Given the description of an element on the screen output the (x, y) to click on. 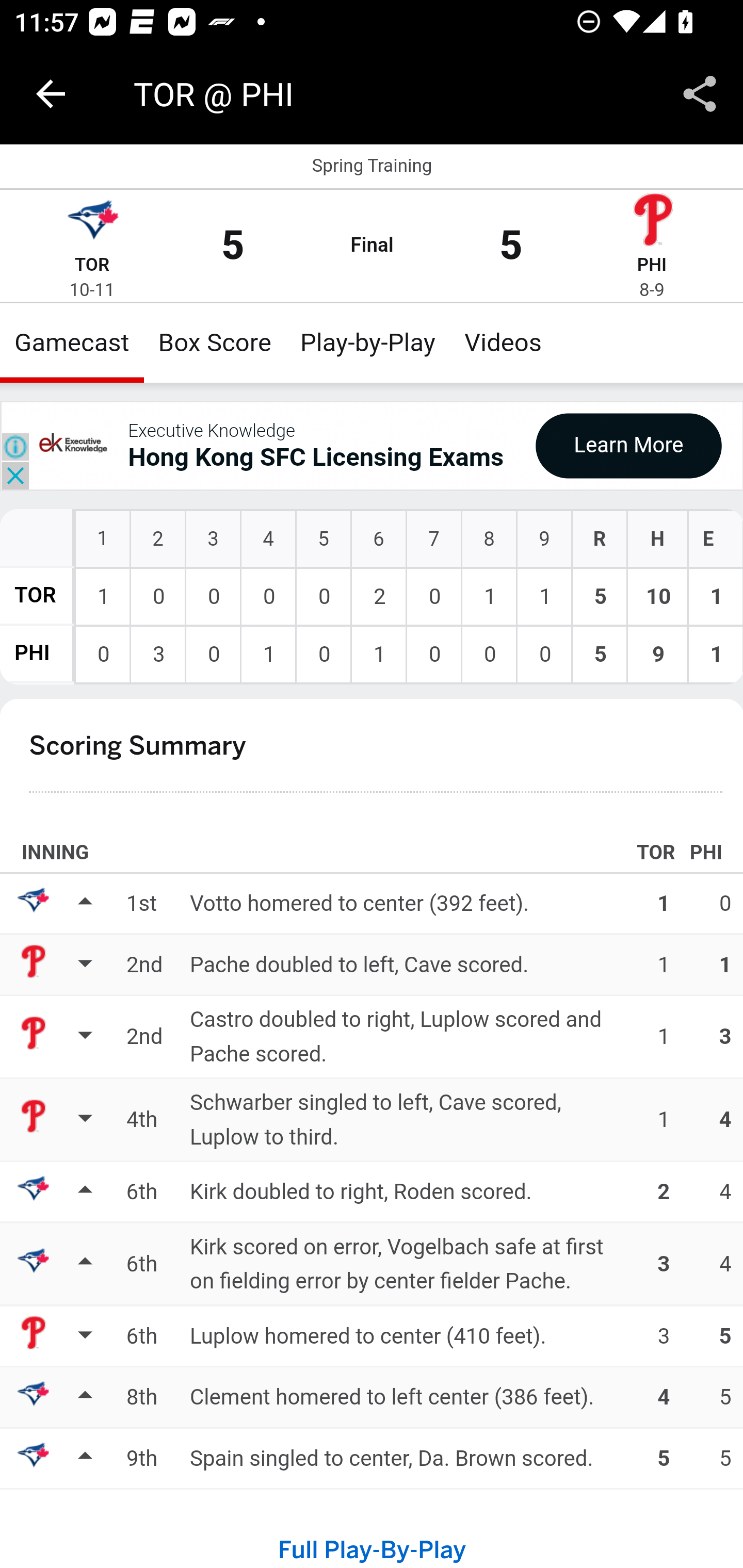
Navigate up (50, 93)
Share (699, 93)
Toronto Blue Jays (91, 221)
Philadelphia Phillies (651, 221)
TOR (91, 264)
PHI (651, 264)
Gamecast (72, 342)
Box Score (214, 342)
Play-by-Play (368, 342)
Videos (502, 342)
Learn More (628, 445)
Executive Knowledge (211, 430)
Hong Kong SFC Licensing Exams (315, 457)
TOR (35, 595)
PHI (32, 653)
Full Play-By-Play (371, 1550)
